Given the description of an element on the screen output the (x, y) to click on. 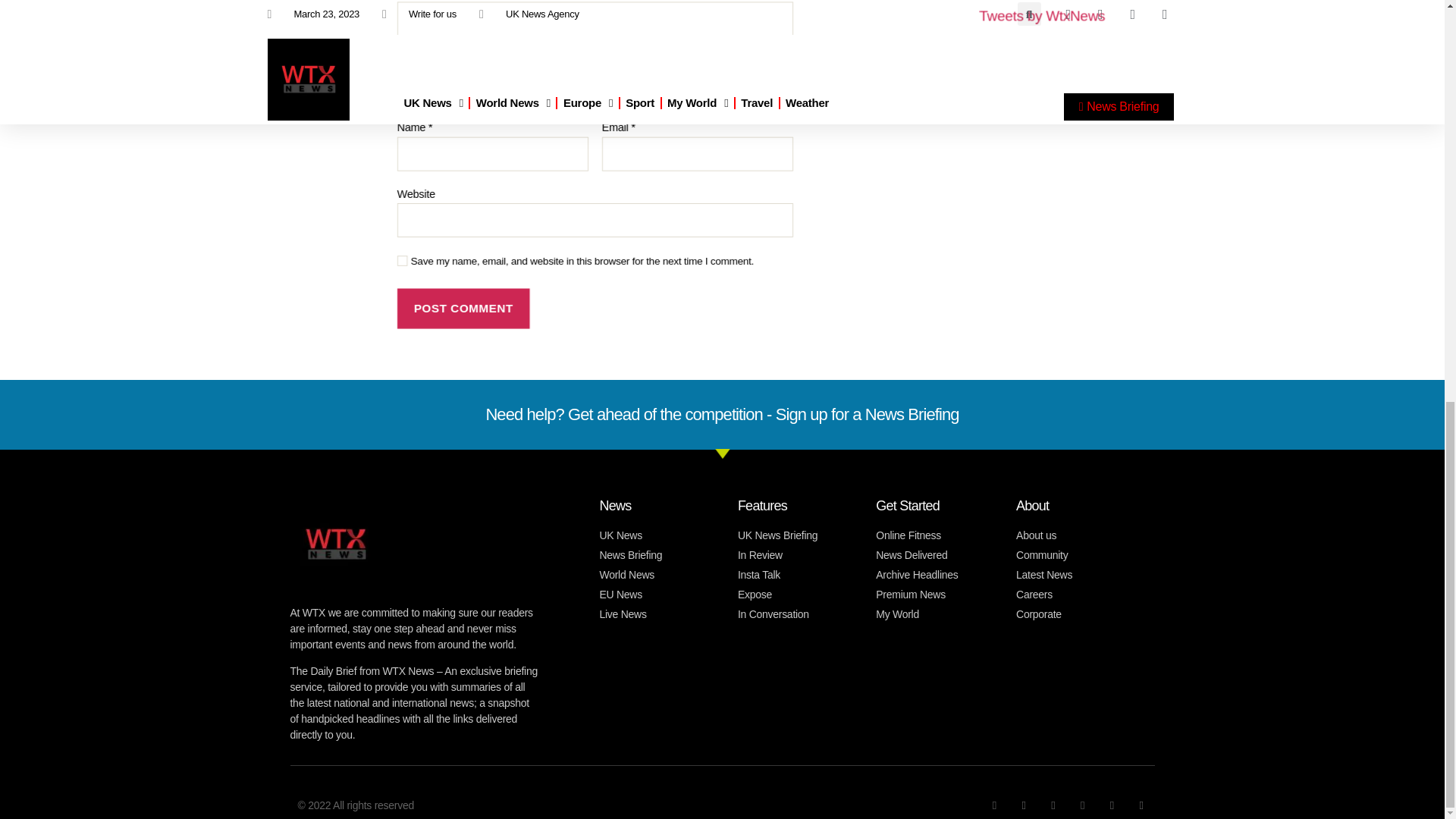
Post Comment (470, 310)
yes (401, 260)
